Given the description of an element on the screen output the (x, y) to click on. 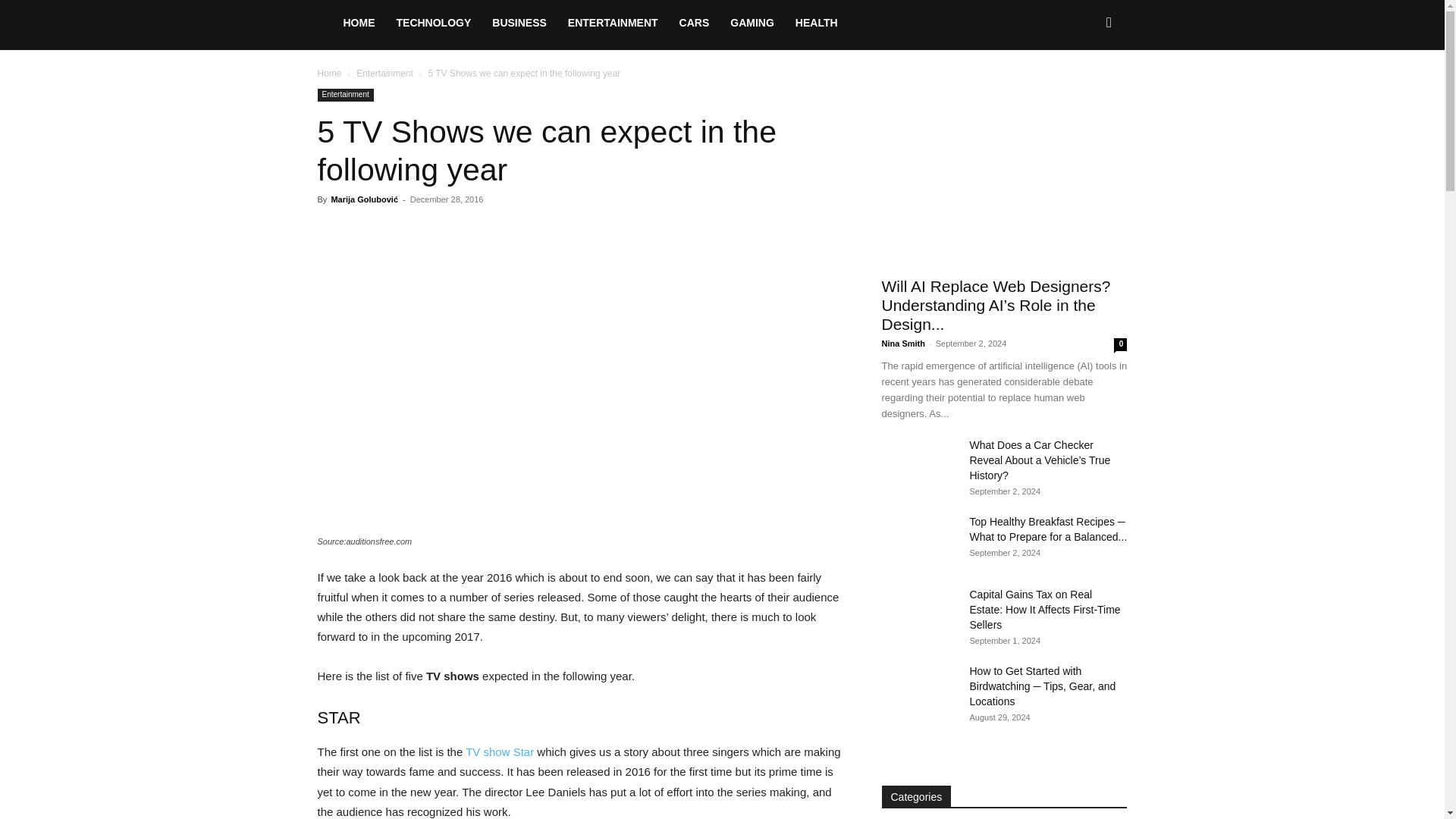
ENTERTAINMENT (612, 22)
Search (1085, 87)
GAMING (751, 22)
Entertainment (344, 94)
TV show Star (580, 403)
Home (328, 72)
TECHNOLOGY (433, 22)
CARS (694, 22)
View all posts in Entertainment (384, 72)
TV show Star (499, 751)
